Given the description of an element on the screen output the (x, y) to click on. 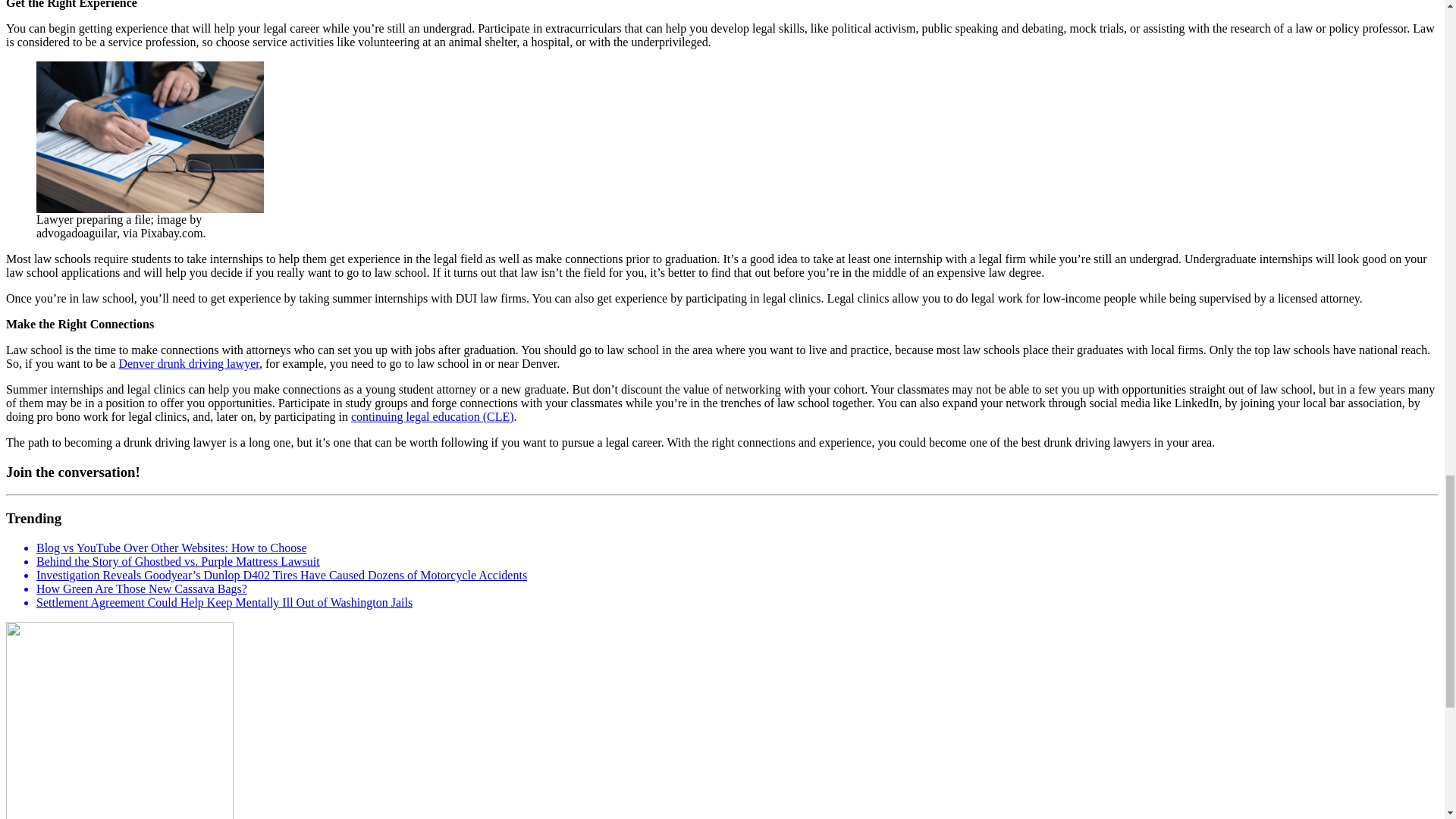
Denver drunk driving lawyer (188, 363)
